Given the description of an element on the screen output the (x, y) to click on. 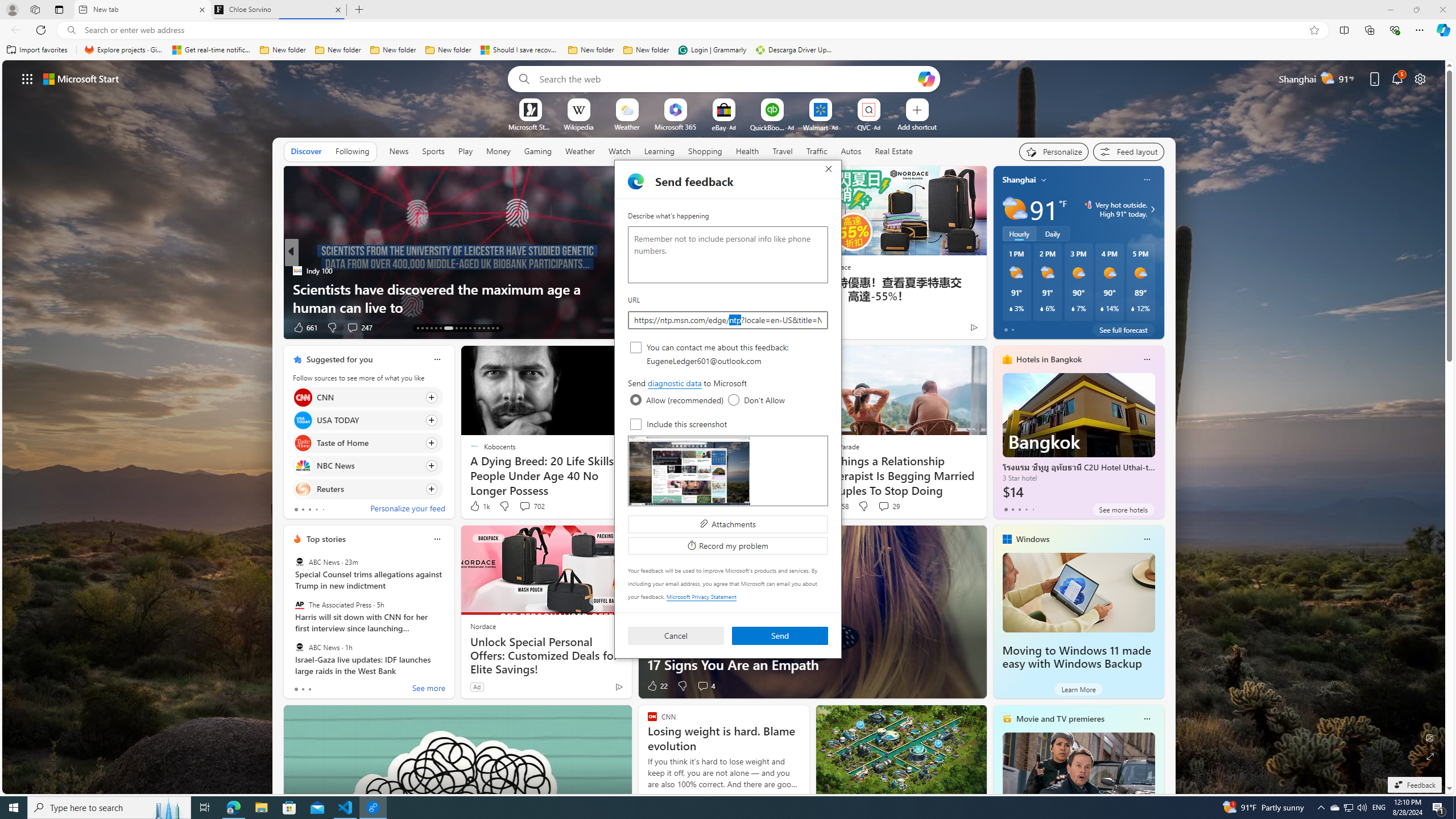
Microsoft Start Gaming (529, 126)
Partly sunny (1014, 208)
Login | Grammarly (712, 49)
AutomationID: tab-18 (440, 328)
Include this screenshot (636, 423)
To get missing image descriptions, open the context menu. (529, 109)
Traffic (816, 151)
Cancel (675, 635)
22 Like (657, 685)
Gaming (537, 151)
